Given the description of an element on the screen output the (x, y) to click on. 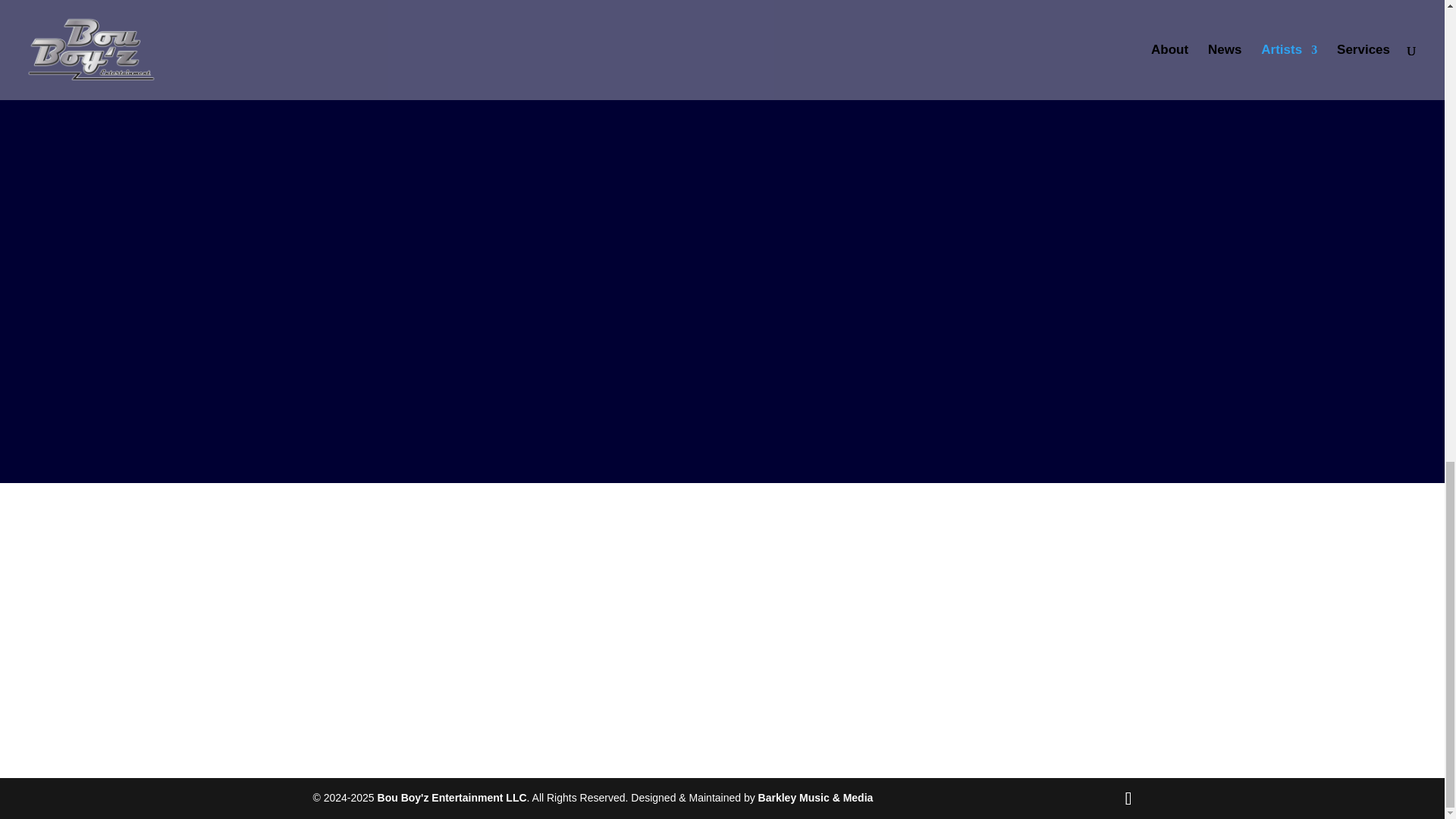
Bou Boy'z Entertainment LLC (452, 797)
